Given the description of an element on the screen output the (x, y) to click on. 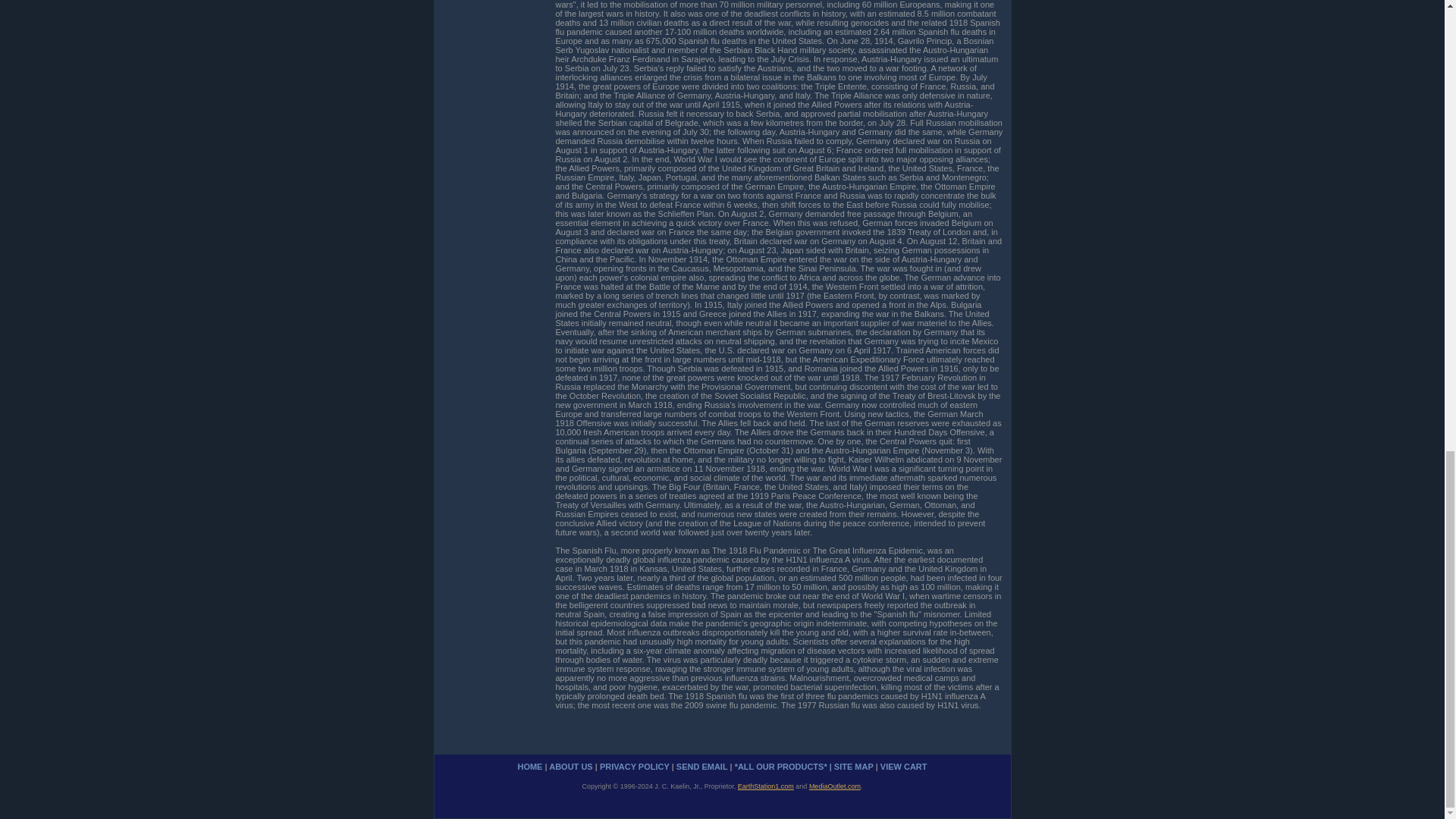
EarthStation1.com (765, 786)
ABOUT US (570, 766)
HOME (528, 766)
SEND EMAIL (702, 766)
MediaOutlet.com (834, 786)
PRIVACY POLICY (634, 766)
VIEW CART (903, 766)
